Given the description of an element on the screen output the (x, y) to click on. 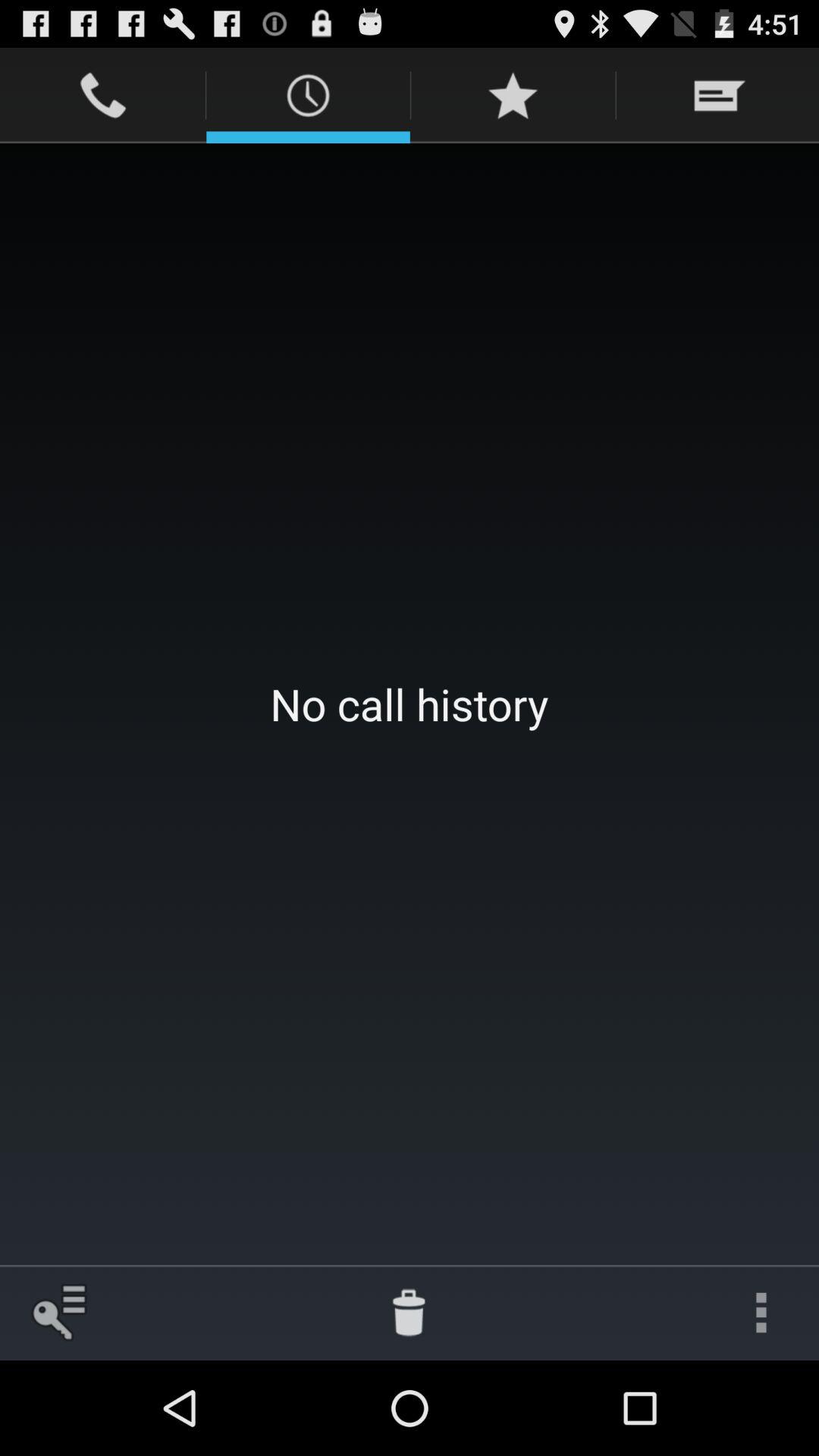
launch the app below no call history item (408, 1312)
